Given the description of an element on the screen output the (x, y) to click on. 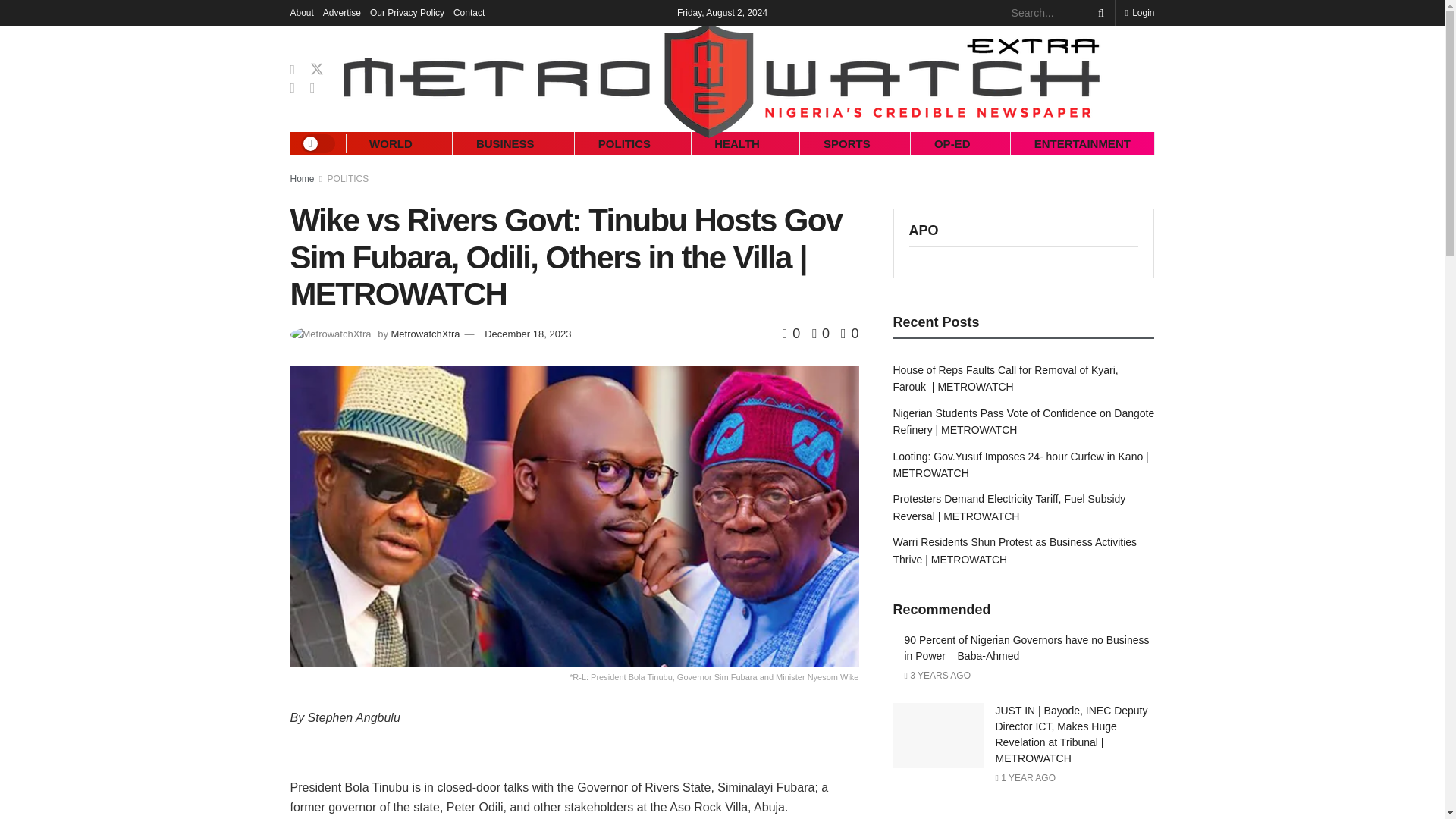
0 (794, 333)
December 18, 2023 (527, 333)
Our Privacy Policy (406, 12)
Contact (468, 12)
ENTERTAINMENT (1081, 143)
HEALTH (737, 143)
SPORTS (846, 143)
MetrowatchXtra (425, 333)
POLITICS (348, 178)
Advertise (342, 12)
WORLD (390, 143)
0 (850, 333)
POLITICS (623, 143)
Login (1139, 12)
About (301, 12)
